Given the description of an element on the screen output the (x, y) to click on. 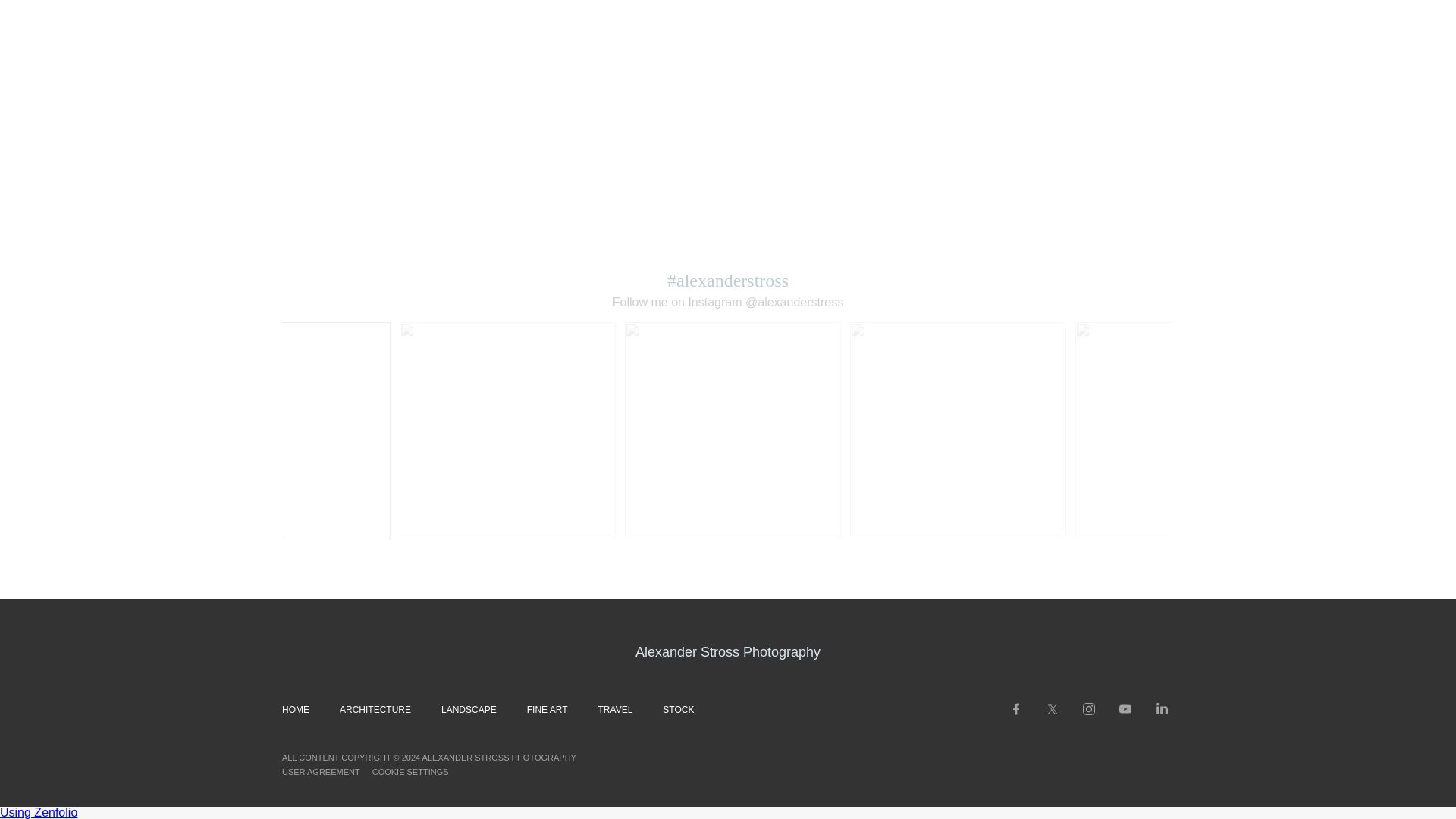
Alexander Stross Photography (727, 652)
LANDSCAPE (468, 709)
TRAVEL (615, 709)
HOME (295, 709)
STOCK (678, 709)
ARCHITECTURE (374, 709)
FINE ART (547, 709)
